Given the description of an element on the screen output the (x, y) to click on. 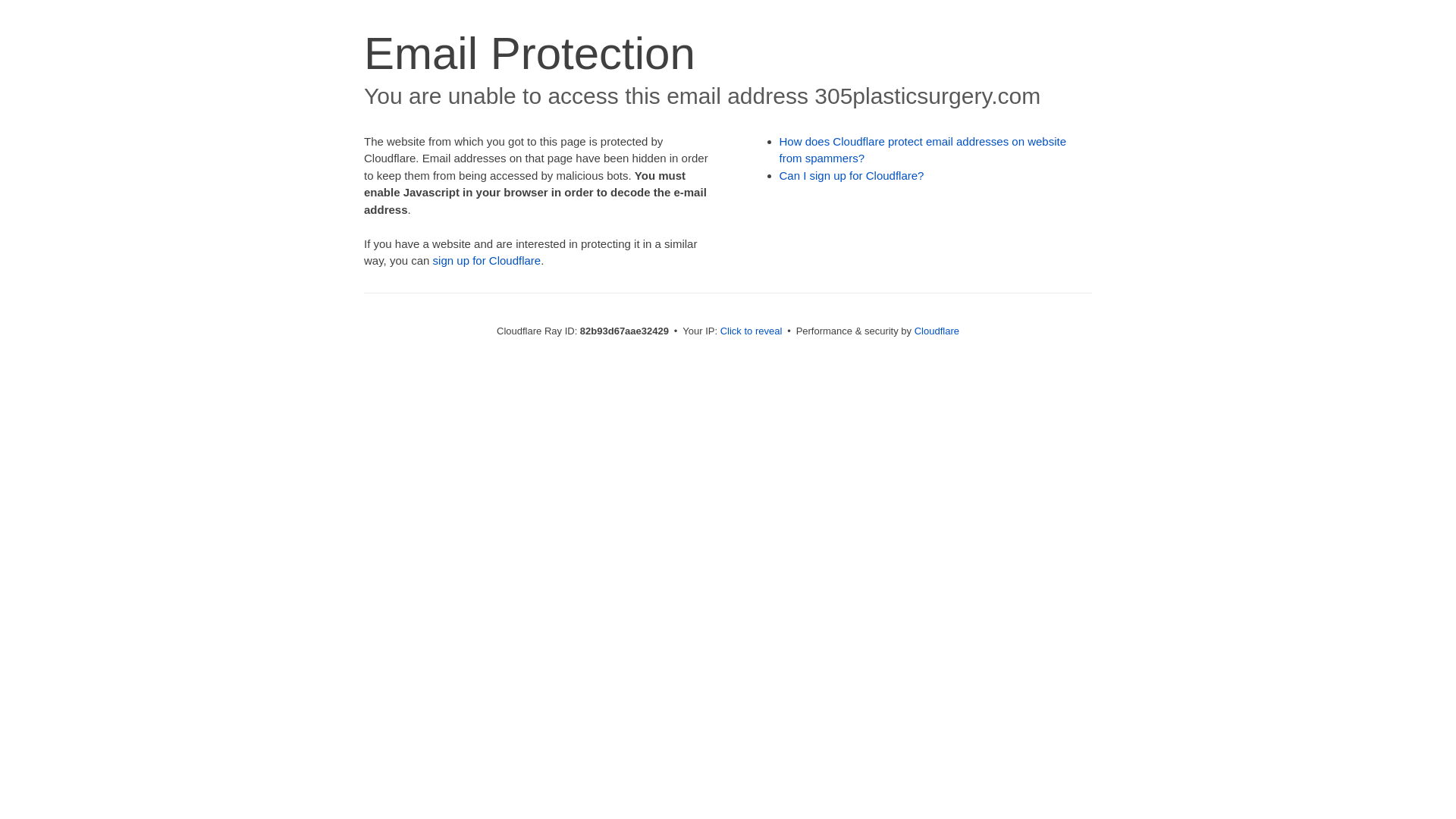
Click to reveal Element type: text (751, 330)
sign up for Cloudflare Element type: text (487, 260)
Cloudflare Element type: text (936, 330)
Can I sign up for Cloudflare? Element type: text (851, 175)
